Given the description of an element on the screen output the (x, y) to click on. 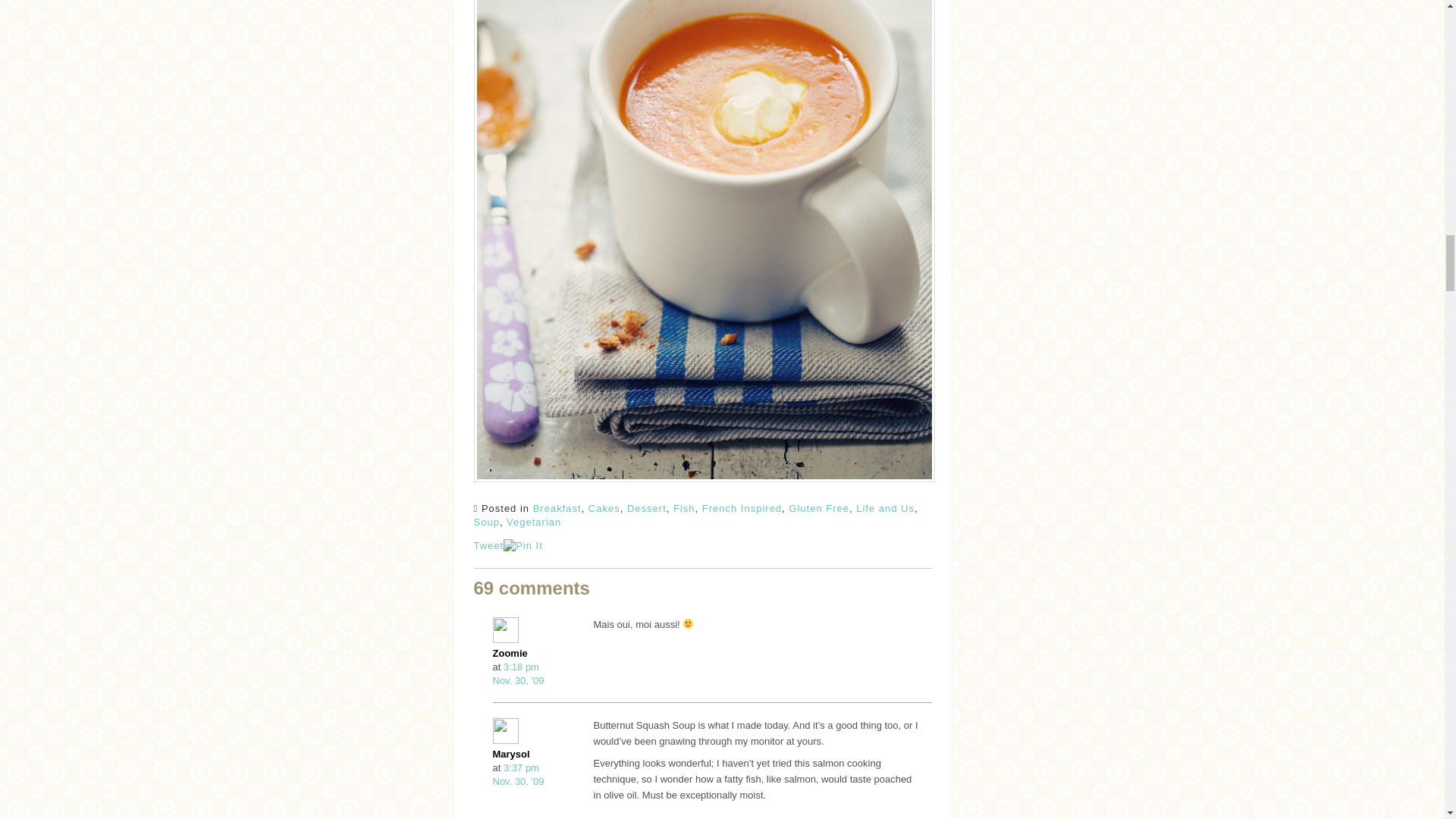
Pin It (523, 545)
